Given the description of an element on the screen output the (x, y) to click on. 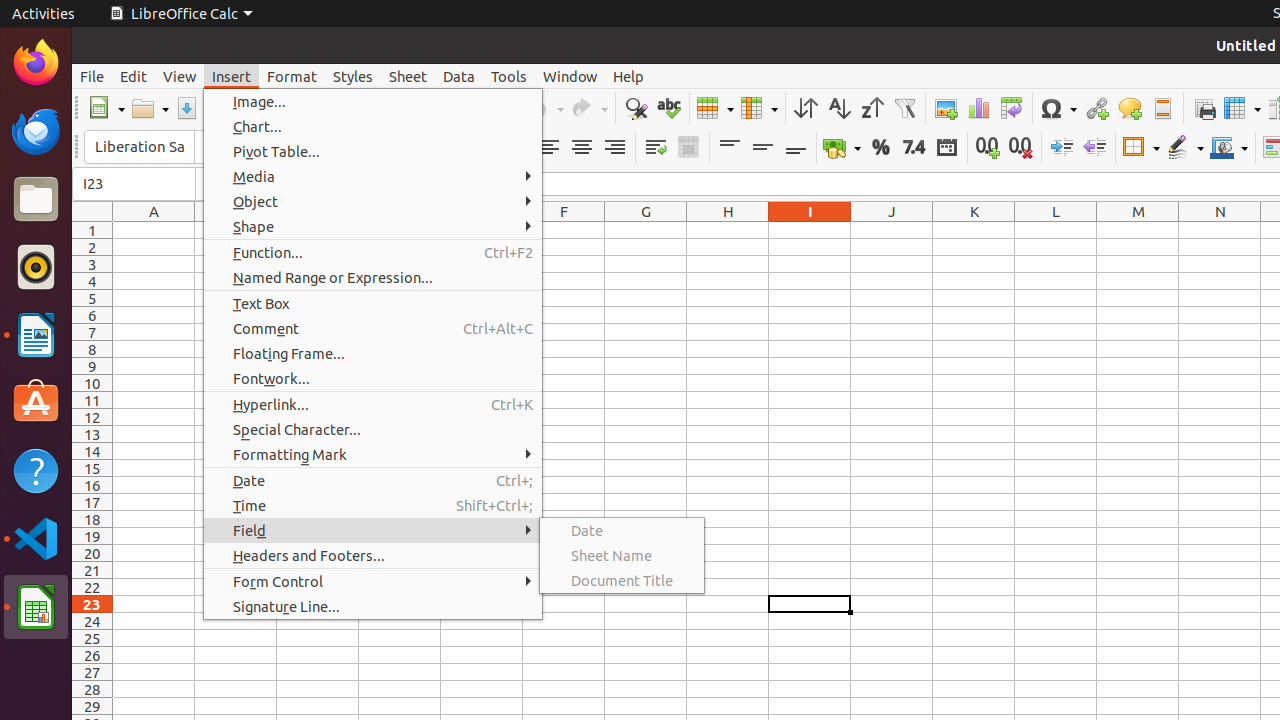
Spelling Element type: push-button (668, 108)
Pivot Table... Element type: menu-item (373, 151)
Increase Element type: push-button (1061, 147)
